Given the description of an element on the screen output the (x, y) to click on. 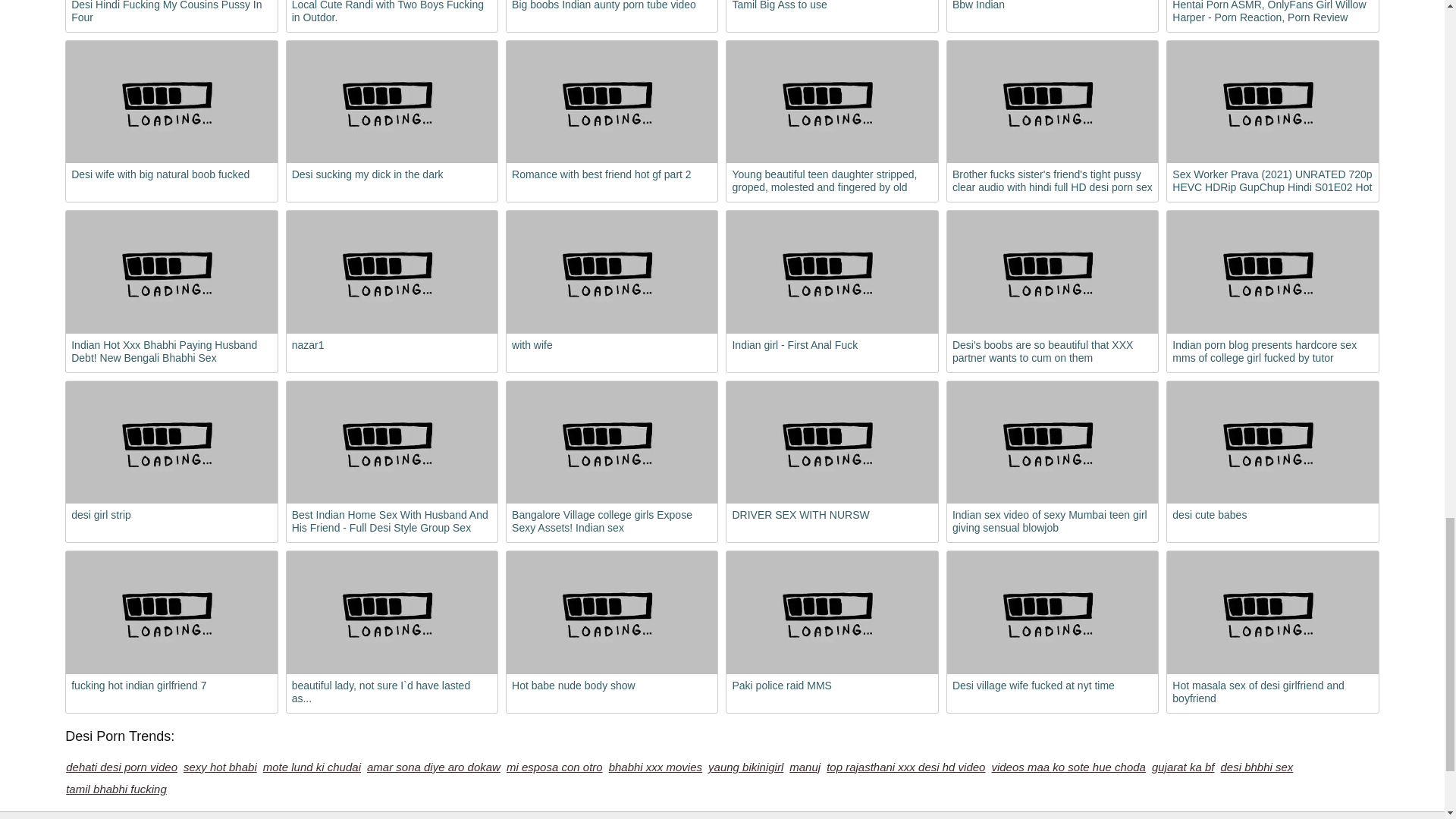
Romance with best friend hot gf part 2 (611, 101)
with wife (611, 271)
Desi sucking my dick in the dark (391, 101)
Desi wife with big natural boob fucked (170, 101)
Indian girl - First Anal Fuck (831, 271)
nazar1 (391, 271)
desi girl strip (170, 442)
